Given the description of an element on the screen output the (x, y) to click on. 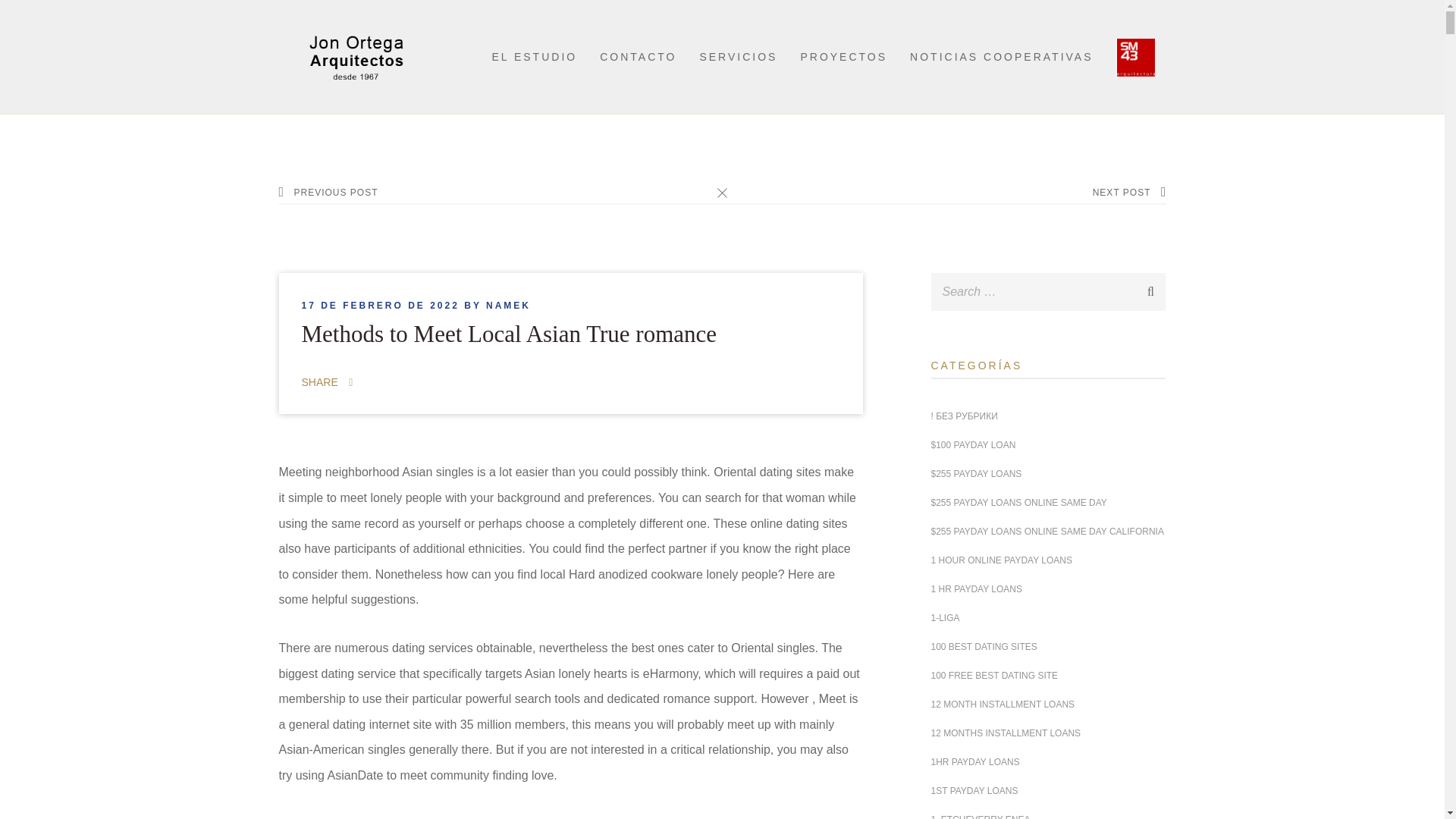
SERVICIOS (737, 56)
CONTACTO (638, 56)
EL ESTUDIO (534, 56)
PROYECTOS (842, 56)
NOTICIAS COOPERATIVAS (1001, 56)
